Given the description of an element on the screen output the (x, y) to click on. 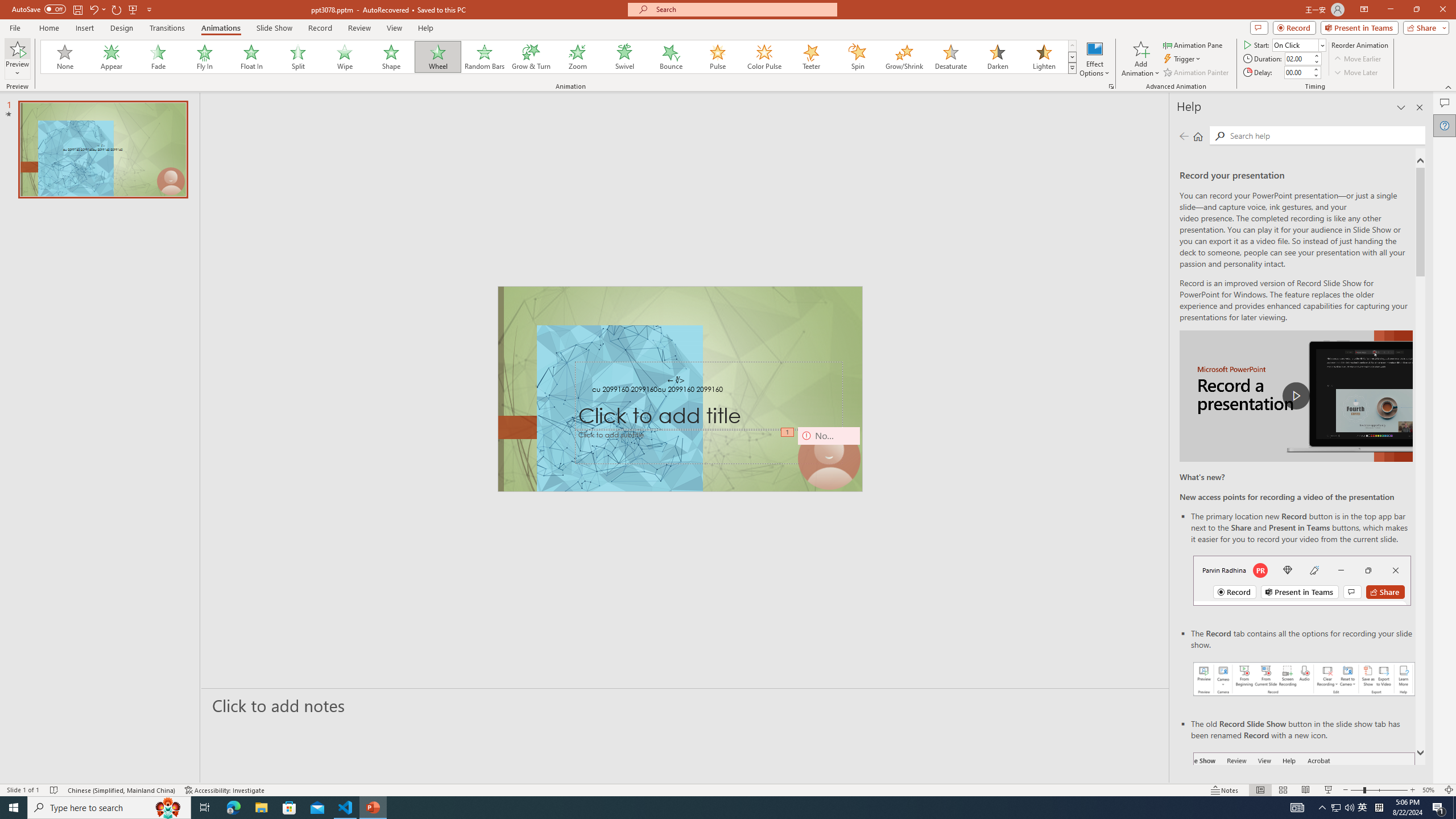
Move Later (1355, 72)
Spin (857, 56)
Grow & Turn (531, 56)
Animation Delay (1297, 72)
Animation, sequence 1, on Camera 9 (787, 432)
Record button in top bar (1301, 580)
play Record a Presentation (1296, 395)
